Given the description of an element on the screen output the (x, y) to click on. 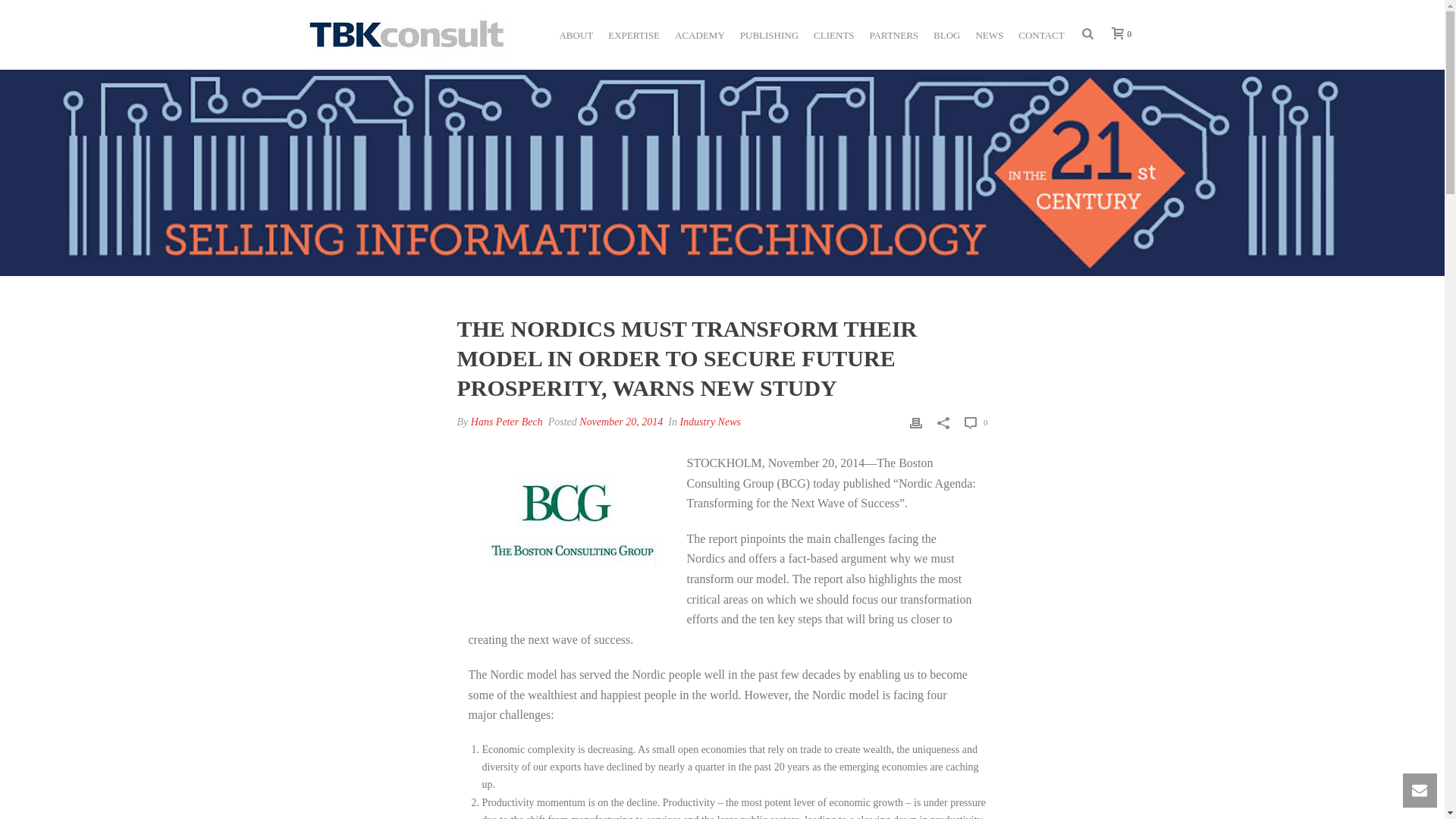
CONTACT (1040, 33)
EXPERTISE (632, 33)
Posts by Hans Peter Bech (506, 421)
PARTNERS (893, 33)
ACADEMY (699, 33)
ACADEMY (699, 33)
PUBLISHING (769, 33)
PARTNERS (893, 33)
EXPERTISE (632, 33)
